Given the description of an element on the screen output the (x, y) to click on. 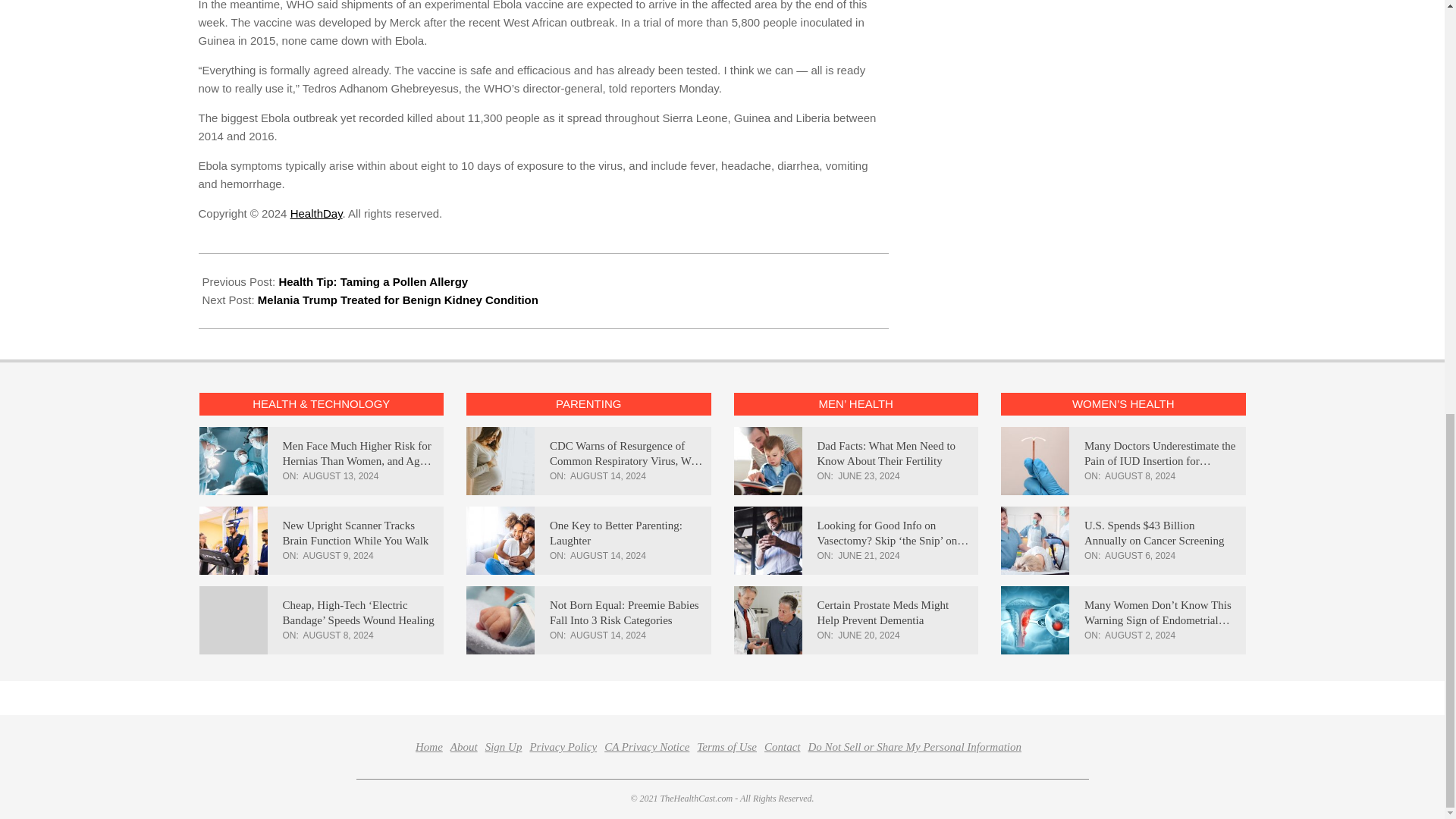
Tuesday, August 13, 2024, 10:22 am (340, 475)
Thursday, June 20, 2024, 9:49 am (868, 634)
Sunday, June 23, 2024, 1:00 pm (868, 475)
Thursday, August 8, 2024, 9:56 am (338, 634)
Wednesday, August 14, 2024, 9:22 am (608, 555)
Thursday, August 8, 2024, 10:59 am (1139, 475)
Wednesday, August 14, 2024, 9:19 am (608, 634)
Friday, August 2, 2024, 9:53 am (1139, 634)
Friday, August 9, 2024, 9:54 am (338, 555)
HealthDay (315, 213)
